Given the description of an element on the screen output the (x, y) to click on. 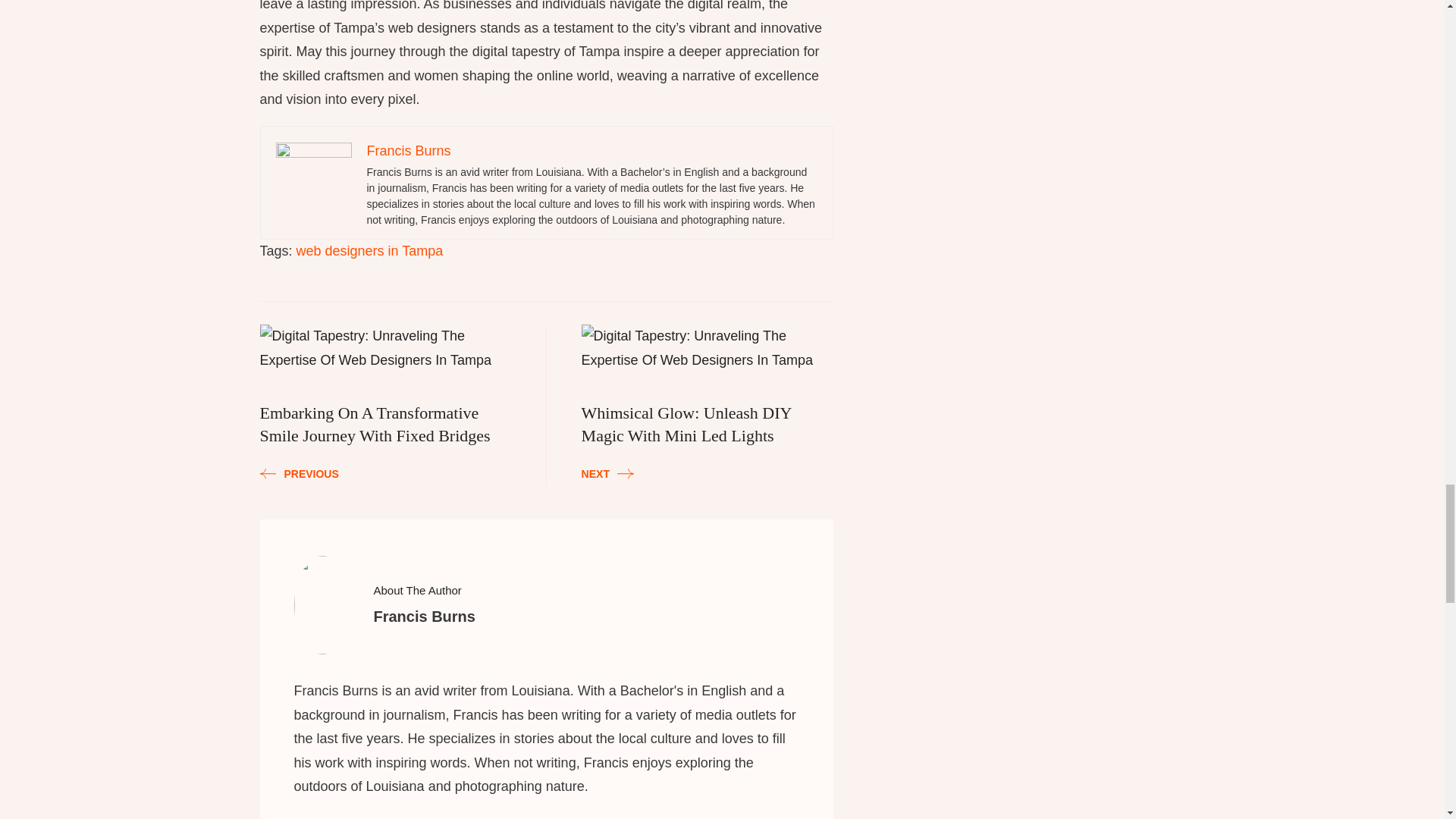
Francis Burns (408, 150)
web designers in Tampa (707, 402)
